Given the description of an element on the screen output the (x, y) to click on. 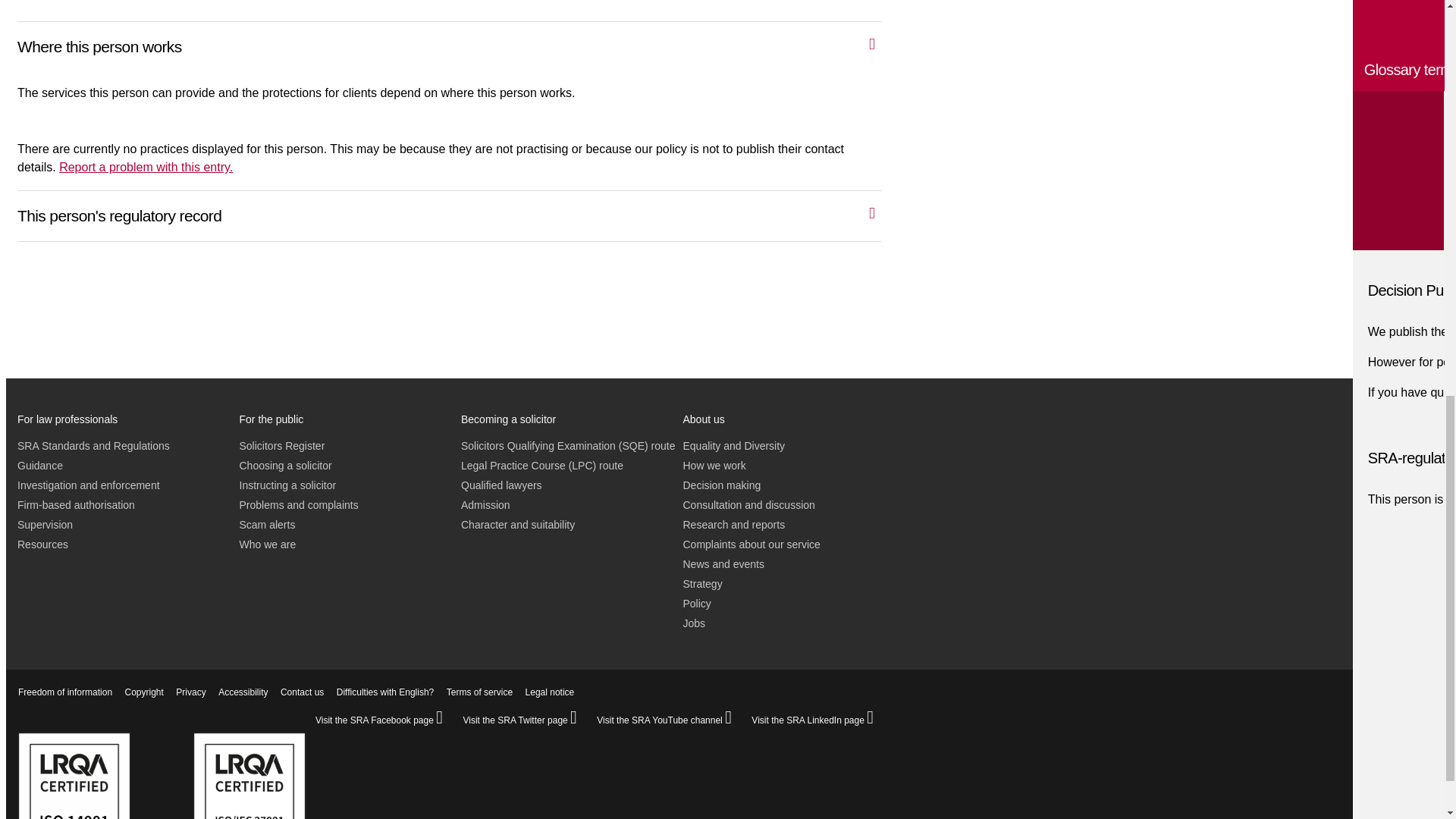
Solicitors Register (282, 445)
This person's regulatory record (464, 212)
Report a problem with this entry. (145, 166)
Where this person works (464, 44)
